Given the description of an element on the screen output the (x, y) to click on. 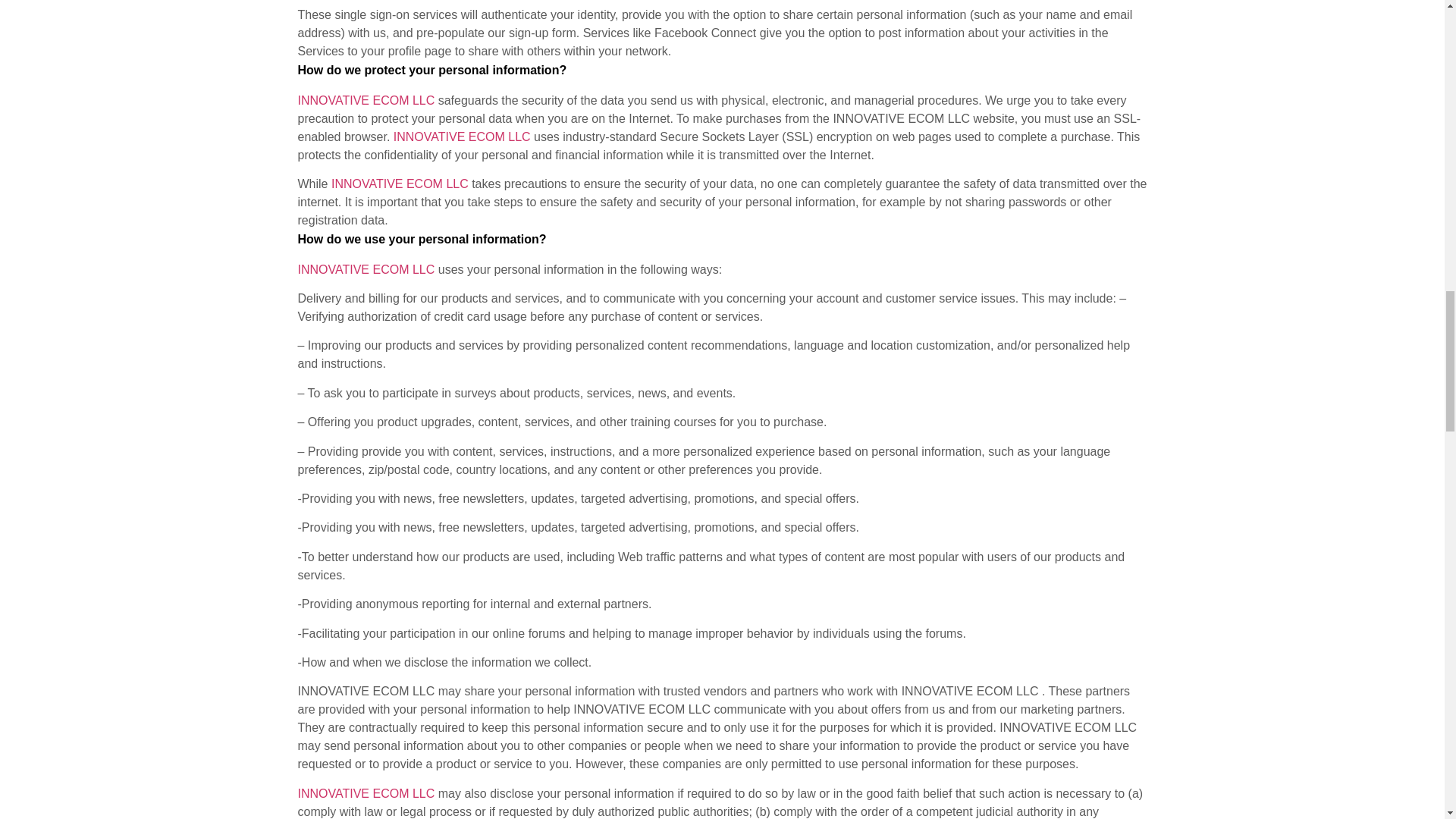
INNOVATIVE ECOM LLC  (401, 183)
INNOVATIVE ECOM LLC (365, 793)
INNOVATIVE ECOM LLC (365, 269)
INNOVATIVE ECOM LLC  (367, 100)
INNOVATIVE ECOM LLC (462, 136)
